Given the description of an element on the screen output the (x, y) to click on. 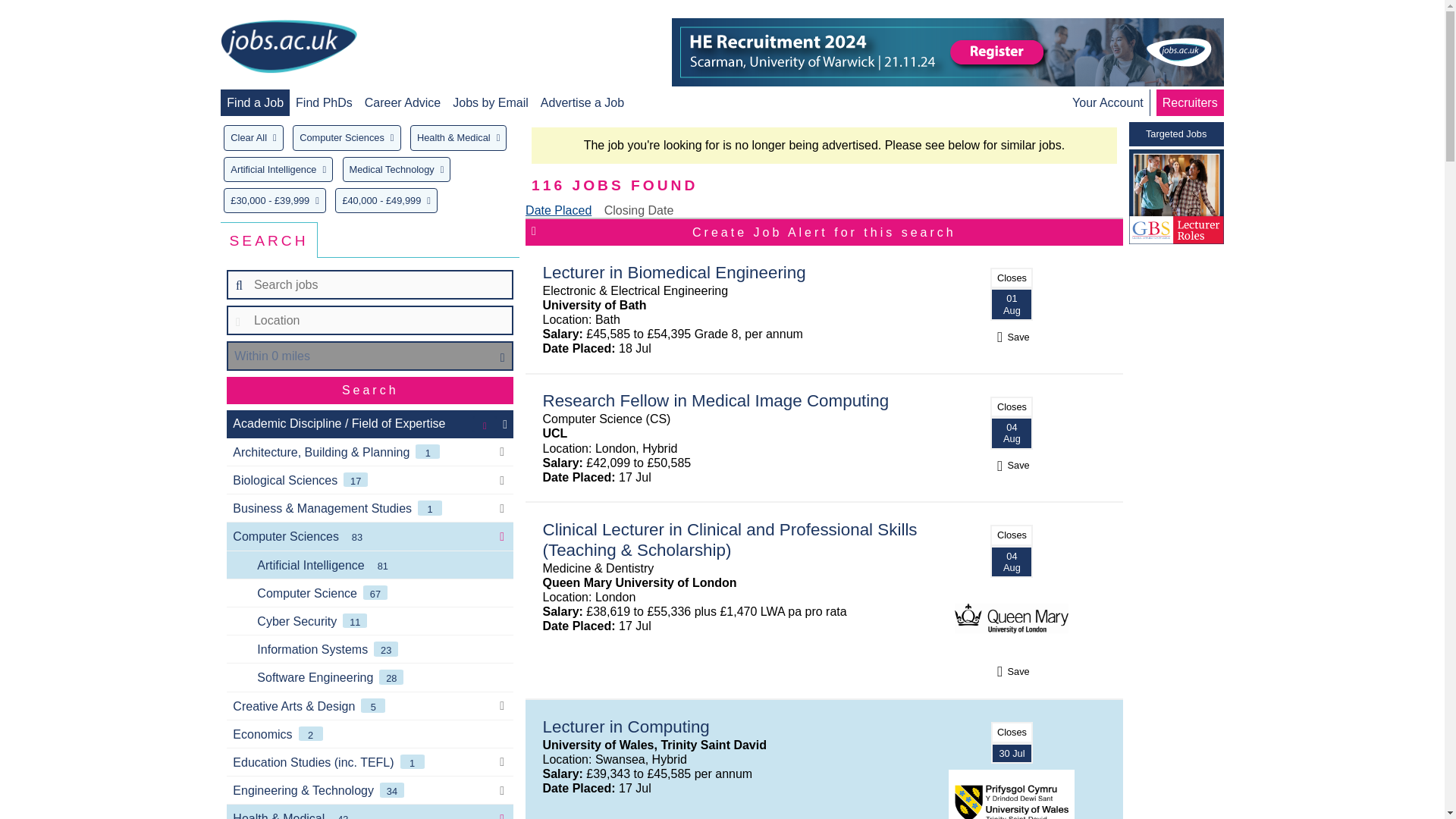
HE RECRUITMENT 2024 (947, 52)
Save (1011, 464)
Search (370, 389)
Lecturer in Biomedical Engineering (674, 271)
Lecturer in Computing (626, 726)
Recruiters (1189, 102)
Your Account (1106, 102)
Find PhDs (323, 102)
Find a Job (255, 102)
Career Advice (403, 102)
Save job (1011, 464)
Save (1011, 671)
Date Placed (558, 210)
Save (1011, 336)
Save job (1011, 336)
